Given the description of an element on the screen output the (x, y) to click on. 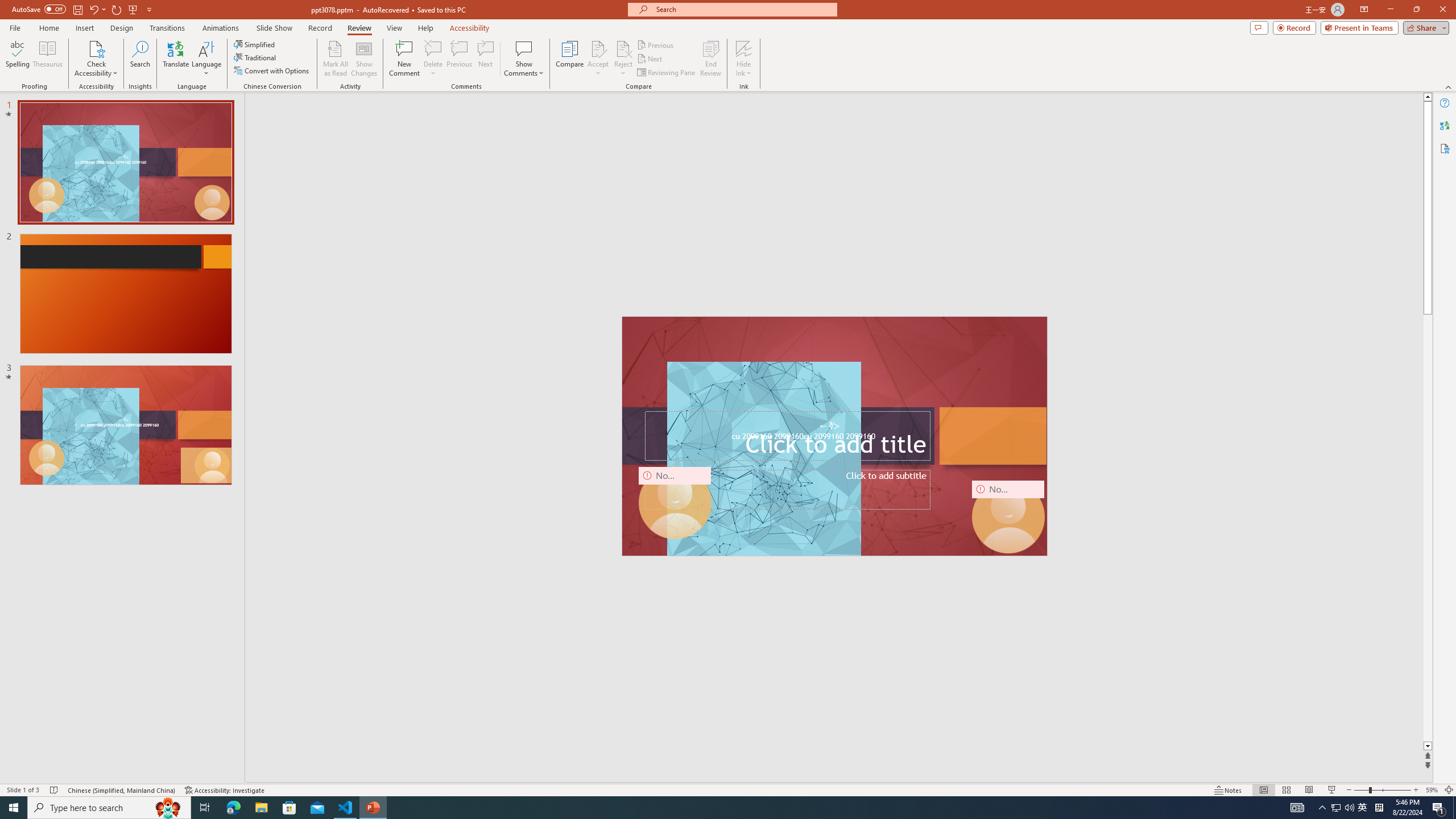
Simplified (254, 44)
An abstract genetic concept (833, 435)
Next (649, 58)
Show Changes (363, 58)
